Given the description of an element on the screen output the (x, y) to click on. 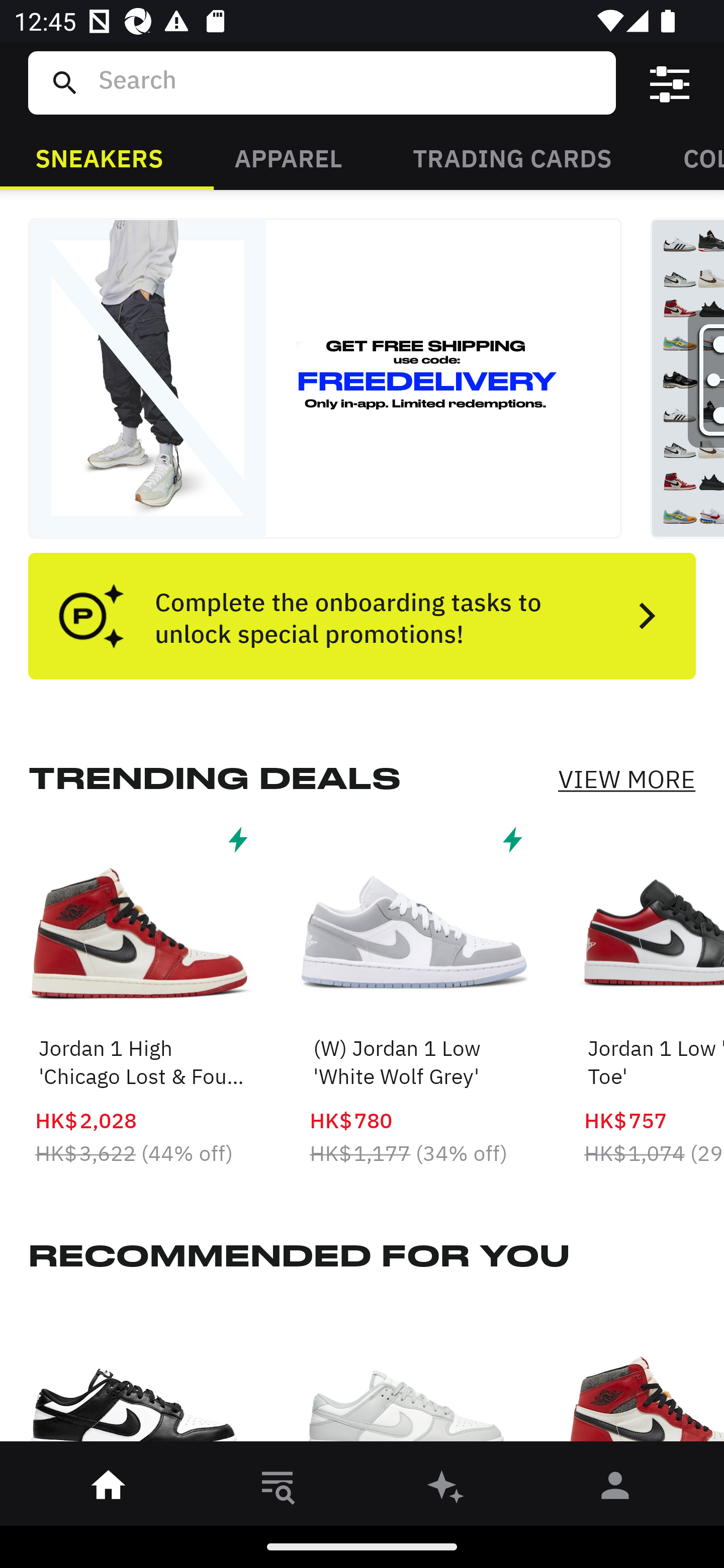
Search (349, 82)
 (669, 82)
SNEAKERS (99, 156)
APPAREL (287, 156)
TRADING CARDS (512, 156)
VIEW MORE (626, 779)
󰋜 (108, 1488)
󱎸 (277, 1488)
󰫢 (446, 1488)
󰀄 (615, 1488)
